Given the description of an element on the screen output the (x, y) to click on. 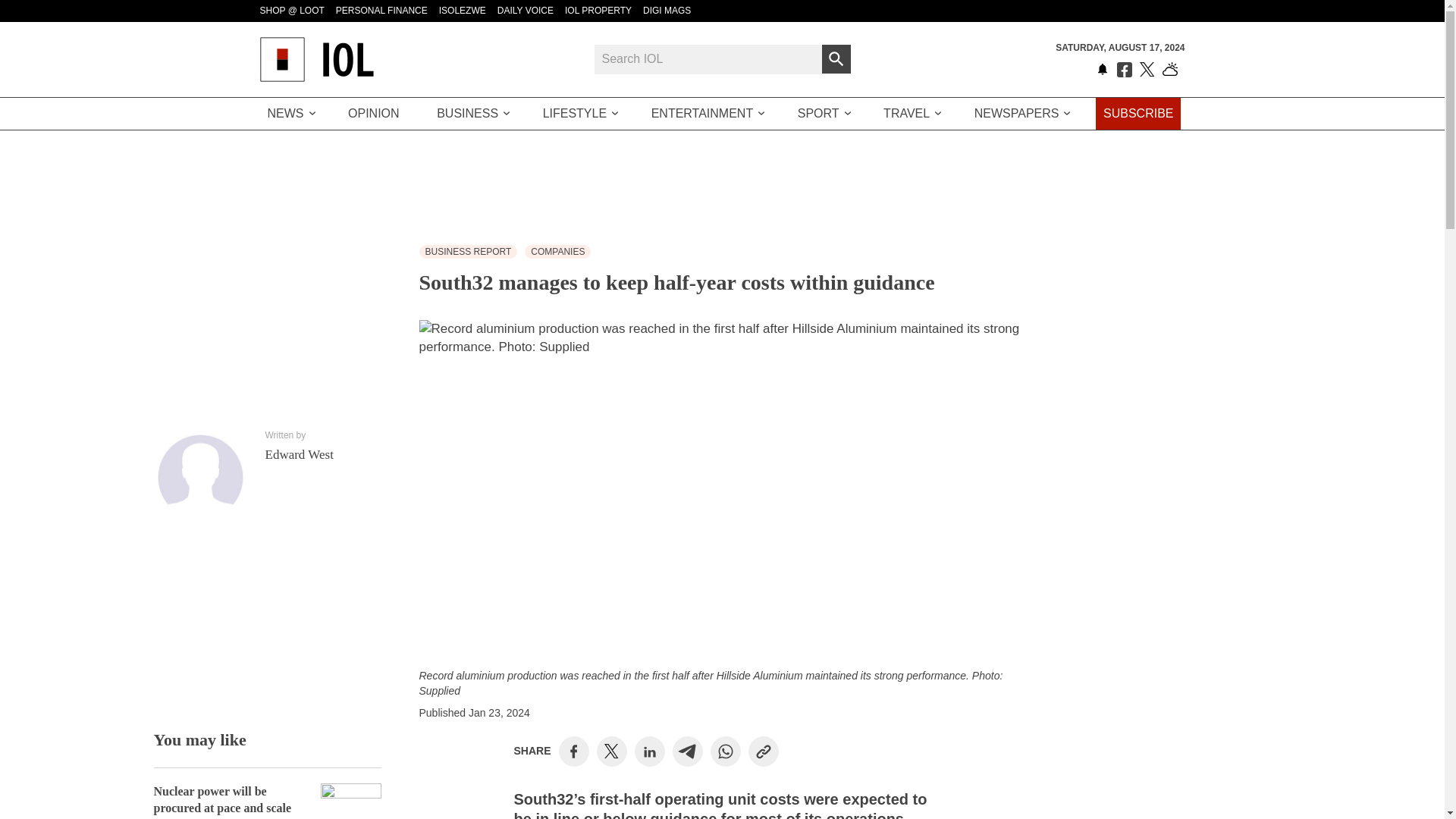
Share on LinkedIn (648, 751)
Copy to Clipboard (763, 751)
Share on Twitter (611, 751)
Share on Facebook (573, 751)
Like us on Facebook (1124, 69)
Share on WhatsApp (725, 751)
Follow us on Twitter (1147, 69)
Share on Telegram (686, 751)
